Given the description of an element on the screen output the (x, y) to click on. 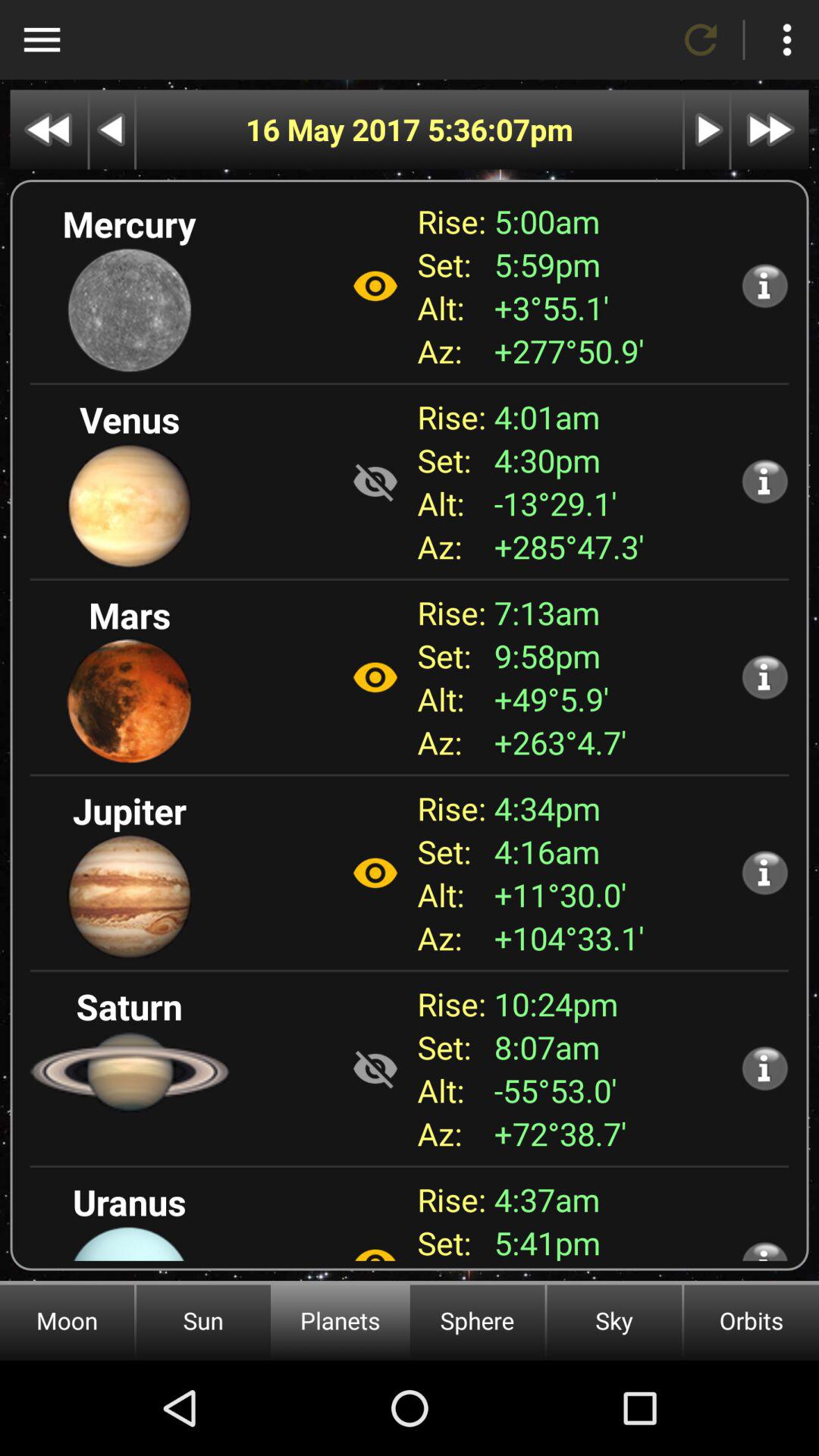
for vision (375, 285)
